Given the description of an element on the screen output the (x, y) to click on. 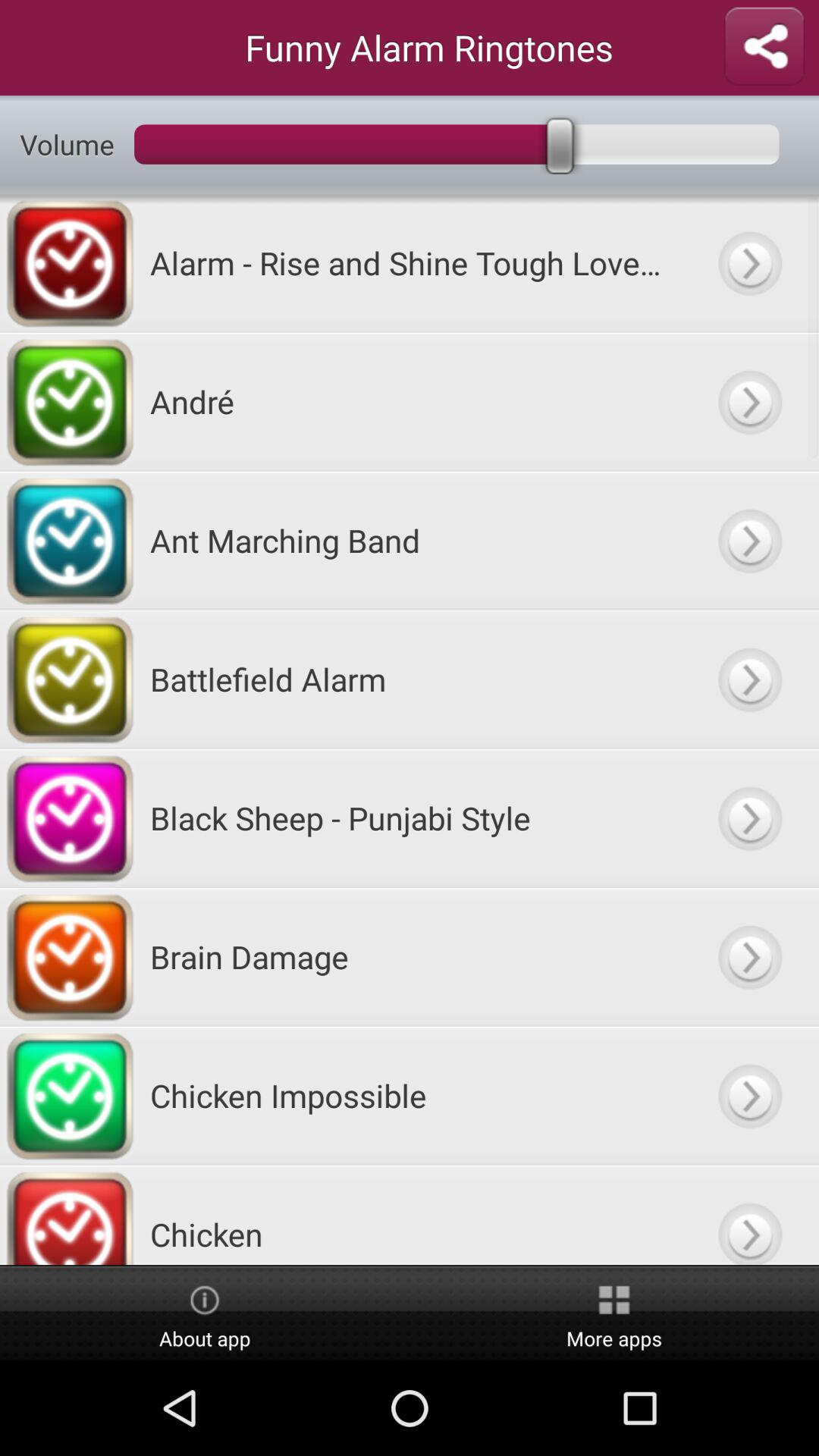
go to next (749, 818)
